Given the description of an element on the screen output the (x, y) to click on. 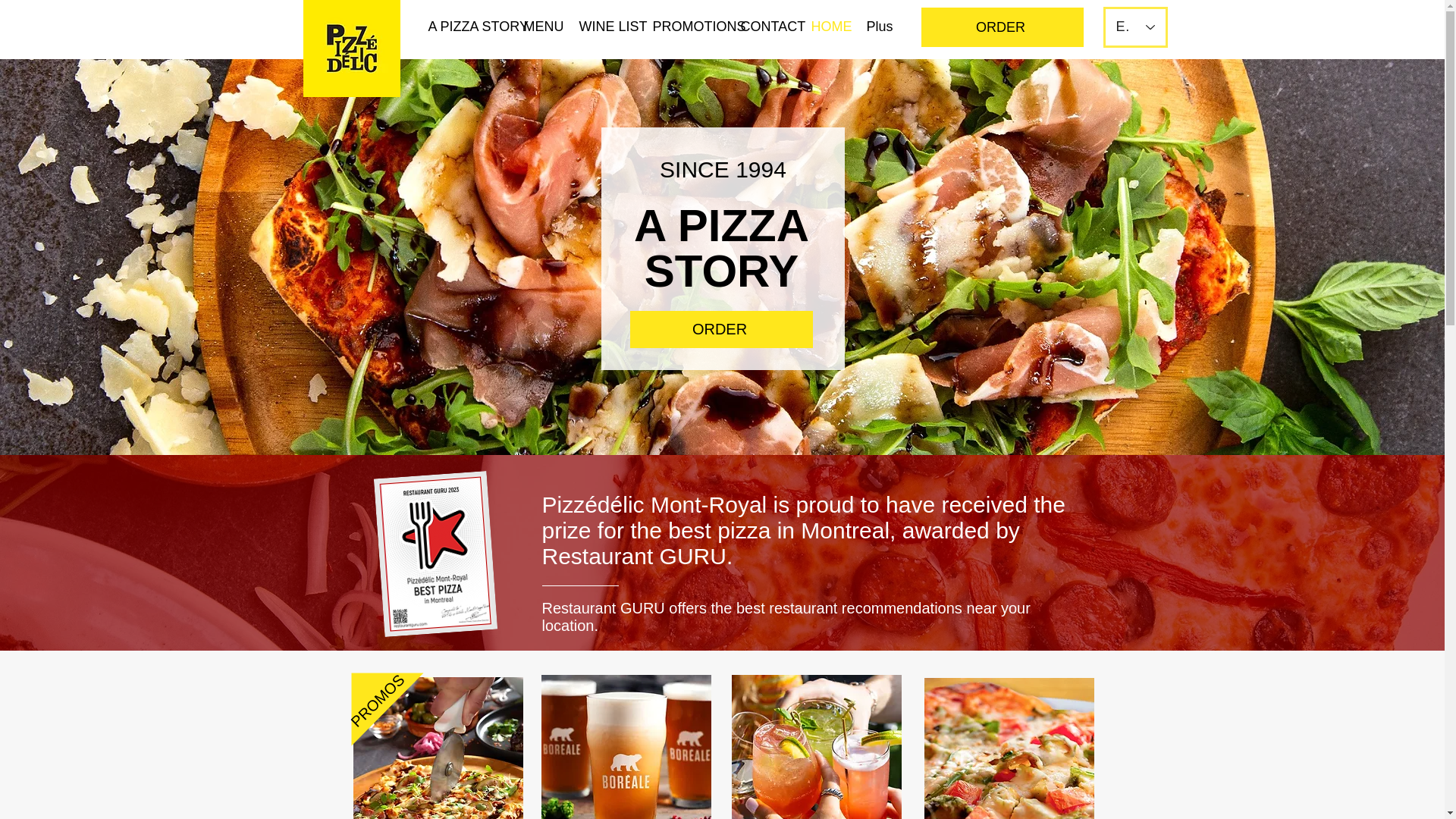
A PIZZA STORY (464, 26)
WINE LIST (603, 26)
CONTACT (764, 26)
MENU (539, 26)
PROMOTIONS (685, 26)
ORDER (720, 329)
ORDER (1001, 26)
HOME (826, 26)
